Given the description of an element on the screen output the (x, y) to click on. 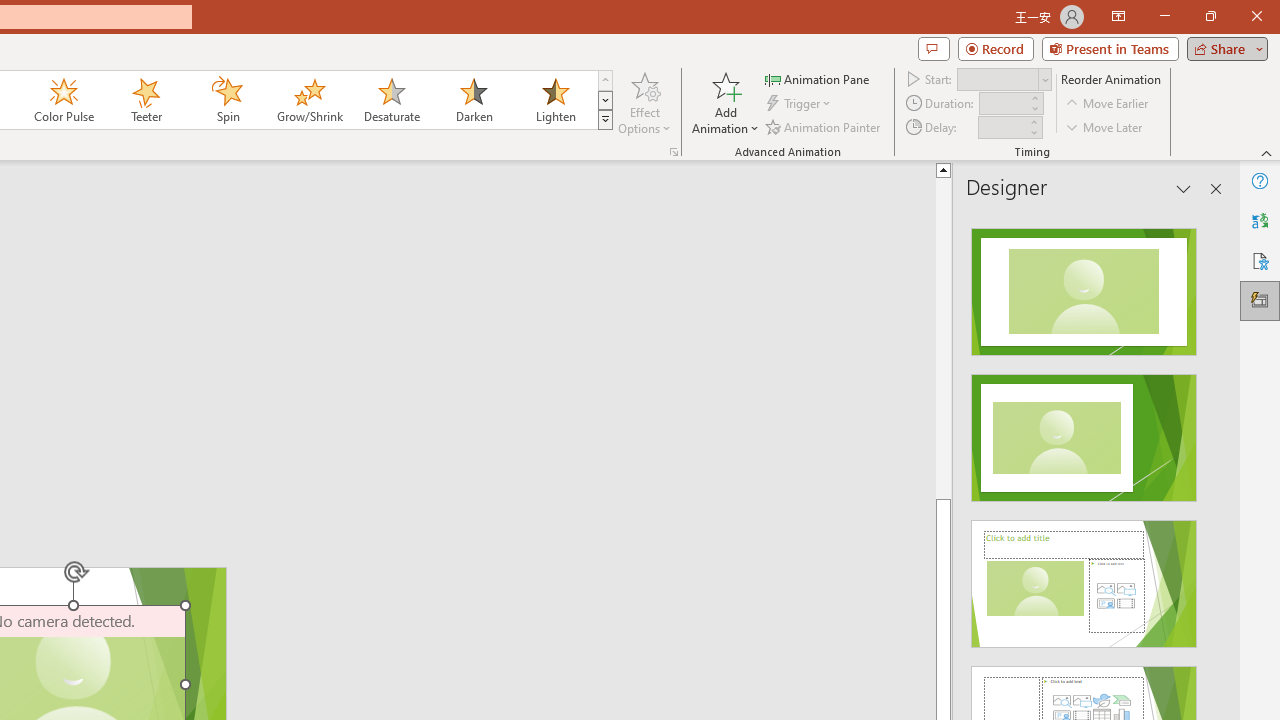
Darken (473, 100)
Animation Painter (824, 126)
Grow/Shrink (309, 100)
Animation Styles (605, 120)
Effect Options (644, 102)
Animation Pane (818, 78)
Color Pulse (63, 100)
Teeter (145, 100)
Add Animation (725, 102)
